Given the description of an element on the screen output the (x, y) to click on. 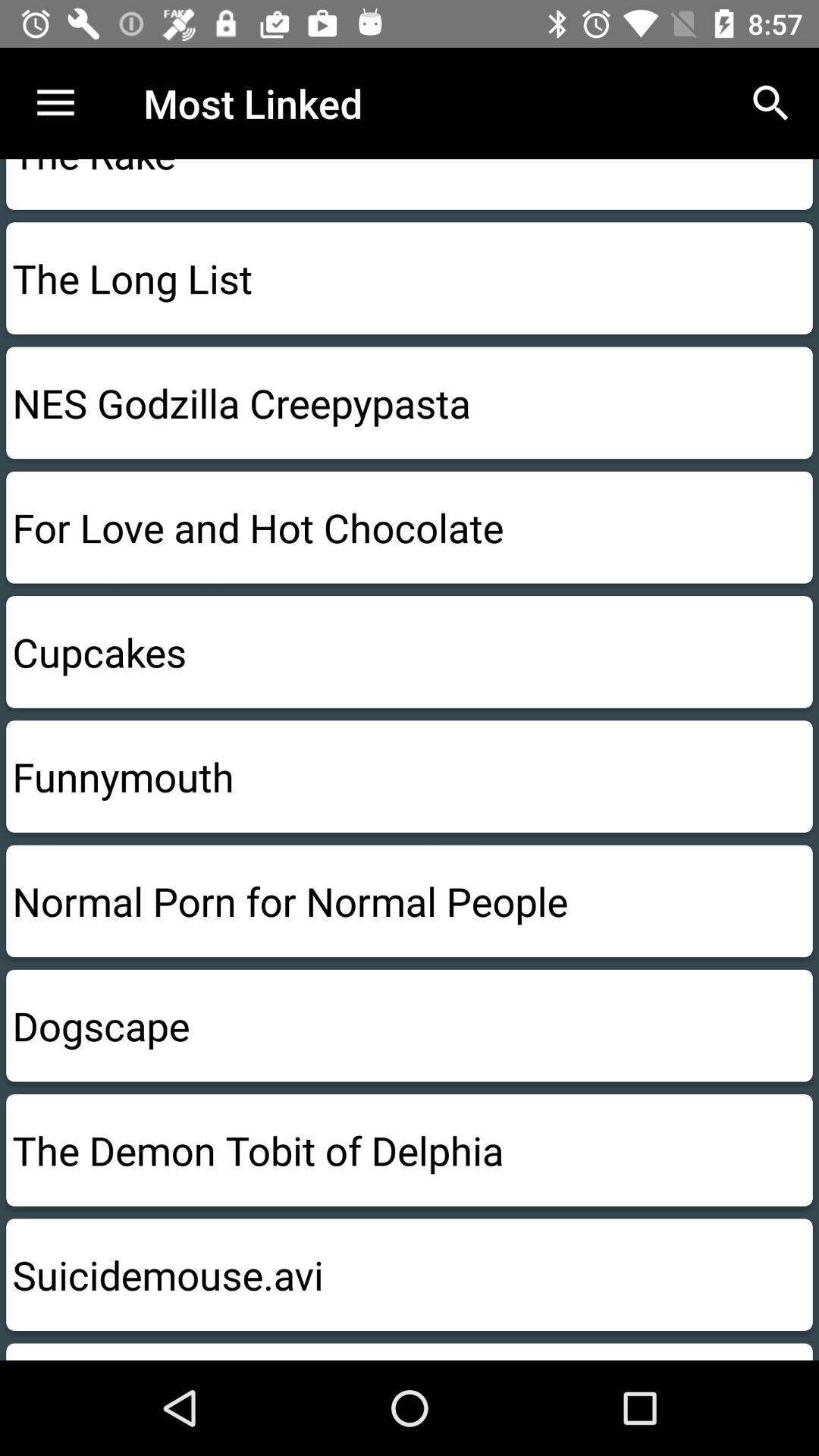
turn on item at the top right corner (771, 103)
